Given the description of an element on the screen output the (x, y) to click on. 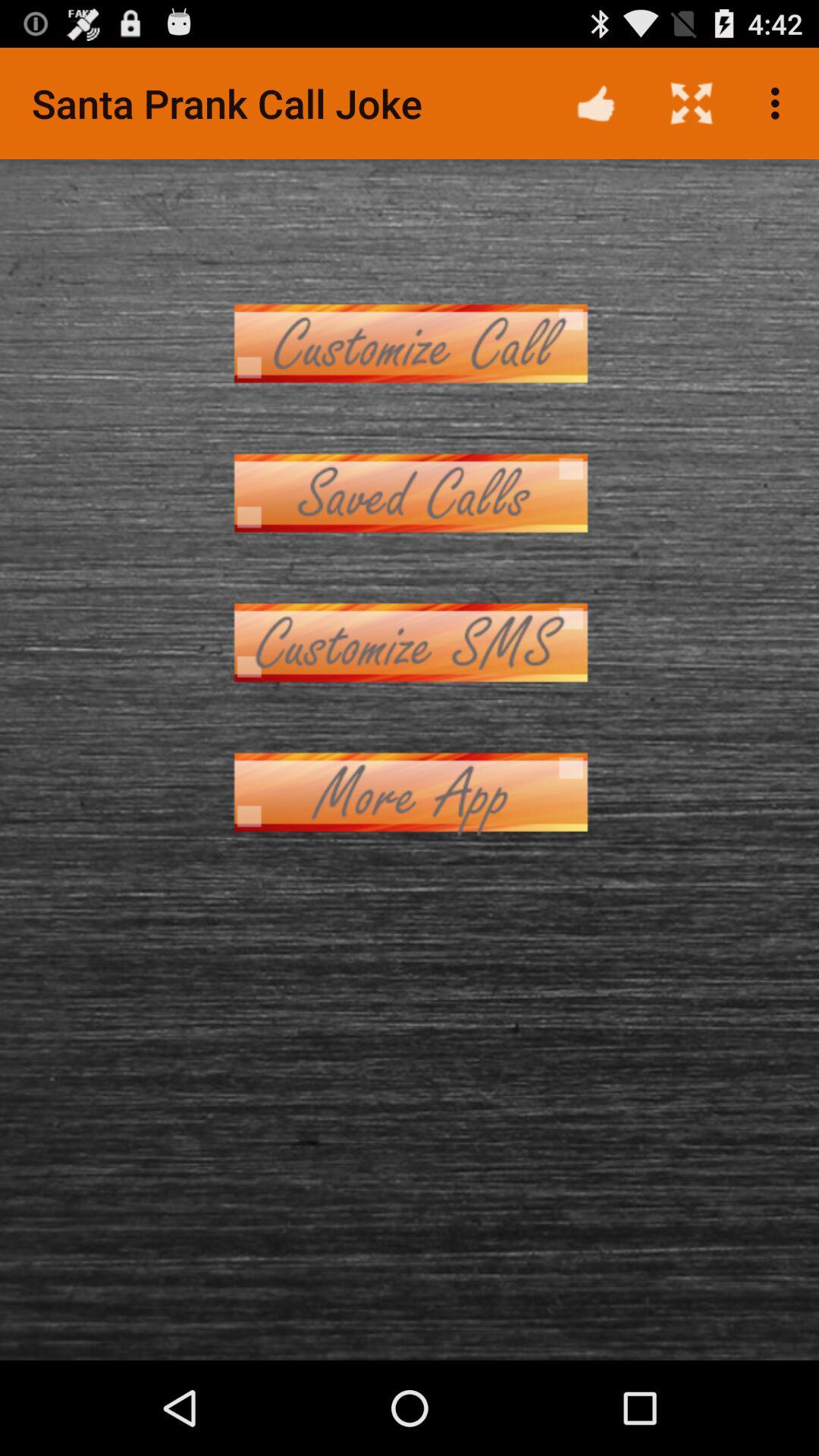
customize call (409, 343)
